Given the description of an element on the screen output the (x, y) to click on. 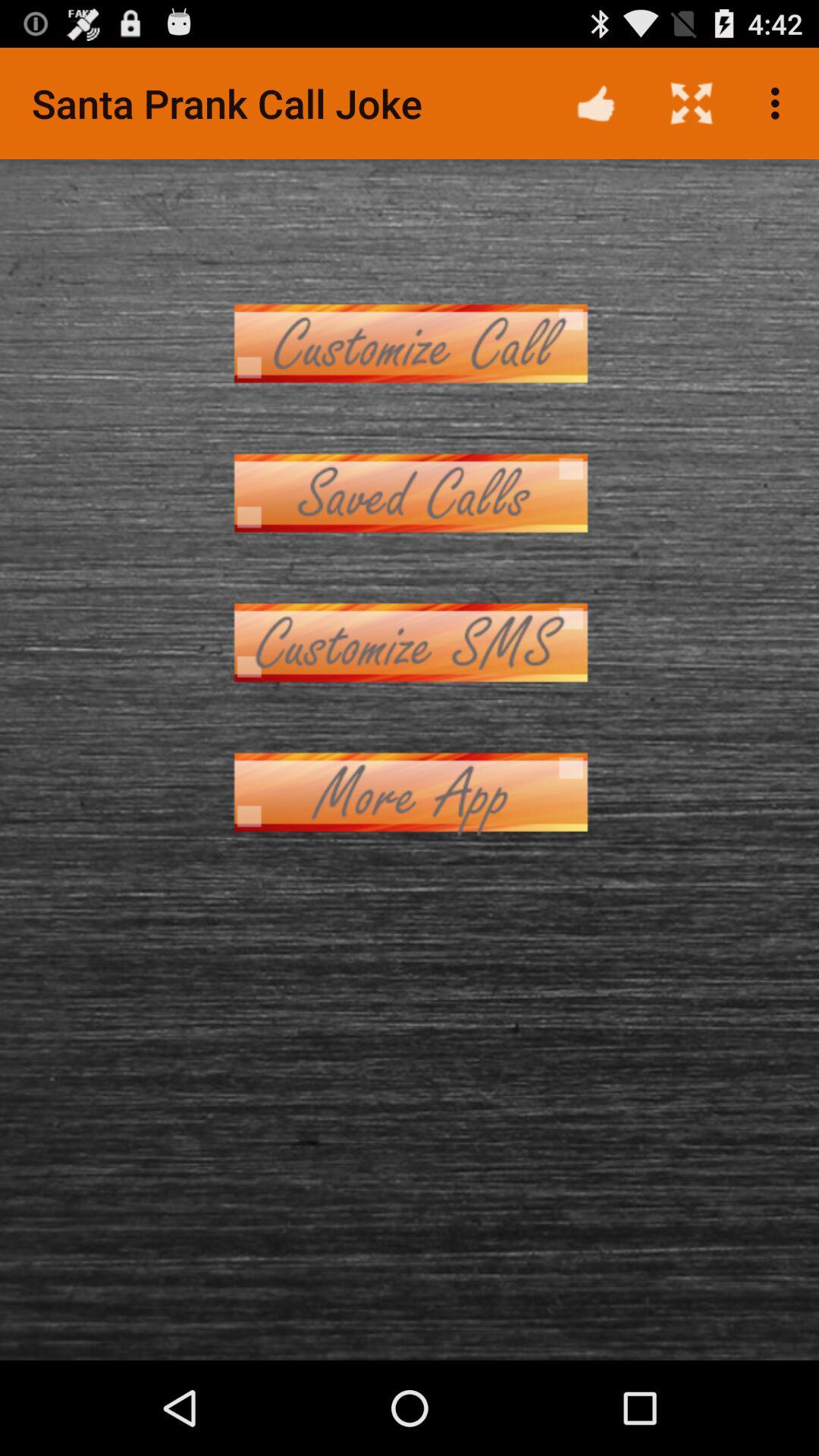
customize call (409, 343)
